Given the description of an element on the screen output the (x, y) to click on. 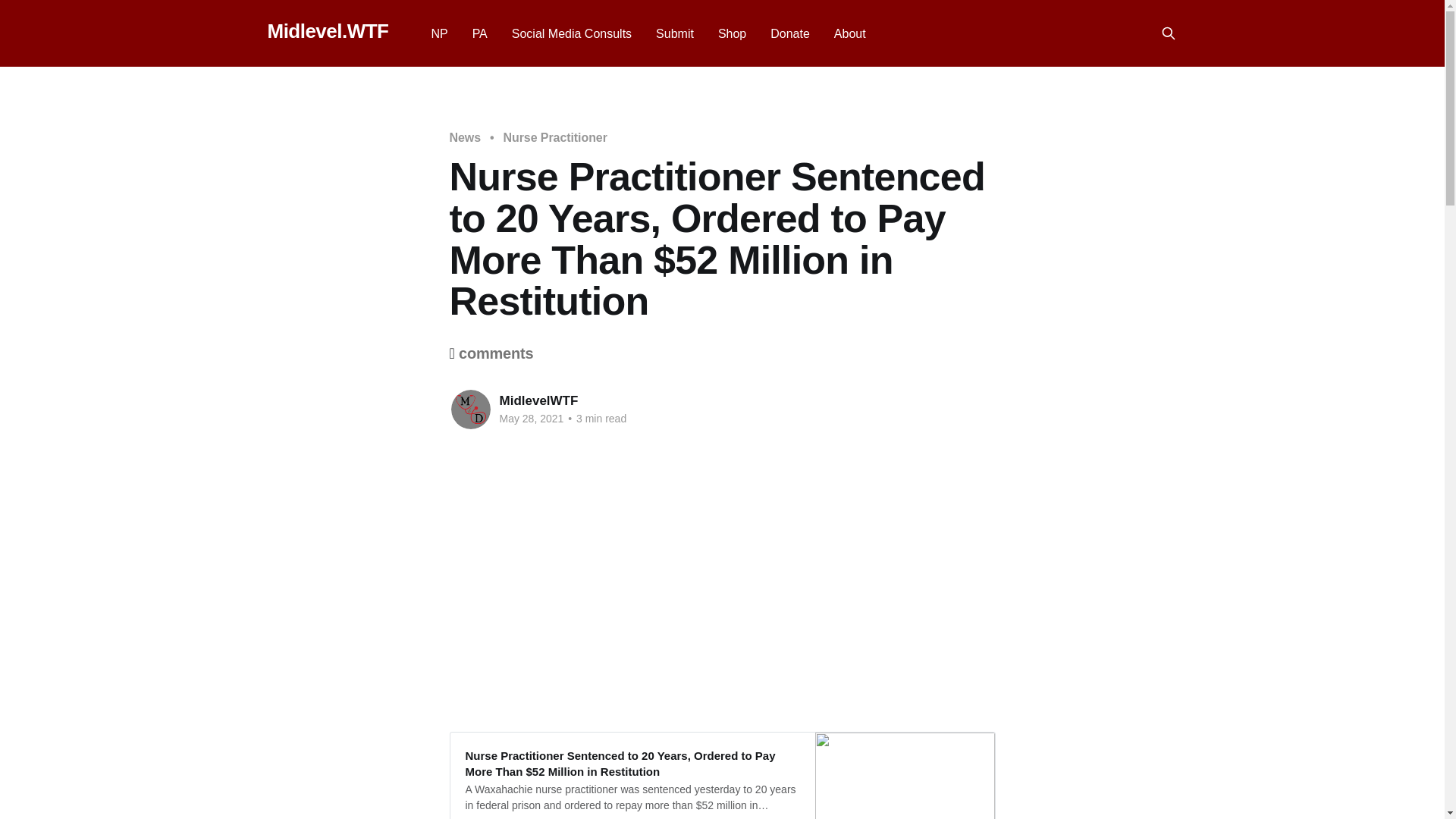
NP (438, 33)
Social Media Consults (571, 33)
PA (479, 33)
MidlevelWTF (538, 400)
About (850, 33)
Nurse Practitioner (555, 137)
Shop (731, 33)
Midlevel.WTF (327, 31)
Submit (675, 33)
News (464, 137)
Donate (789, 33)
comments (495, 352)
